Given the description of an element on the screen output the (x, y) to click on. 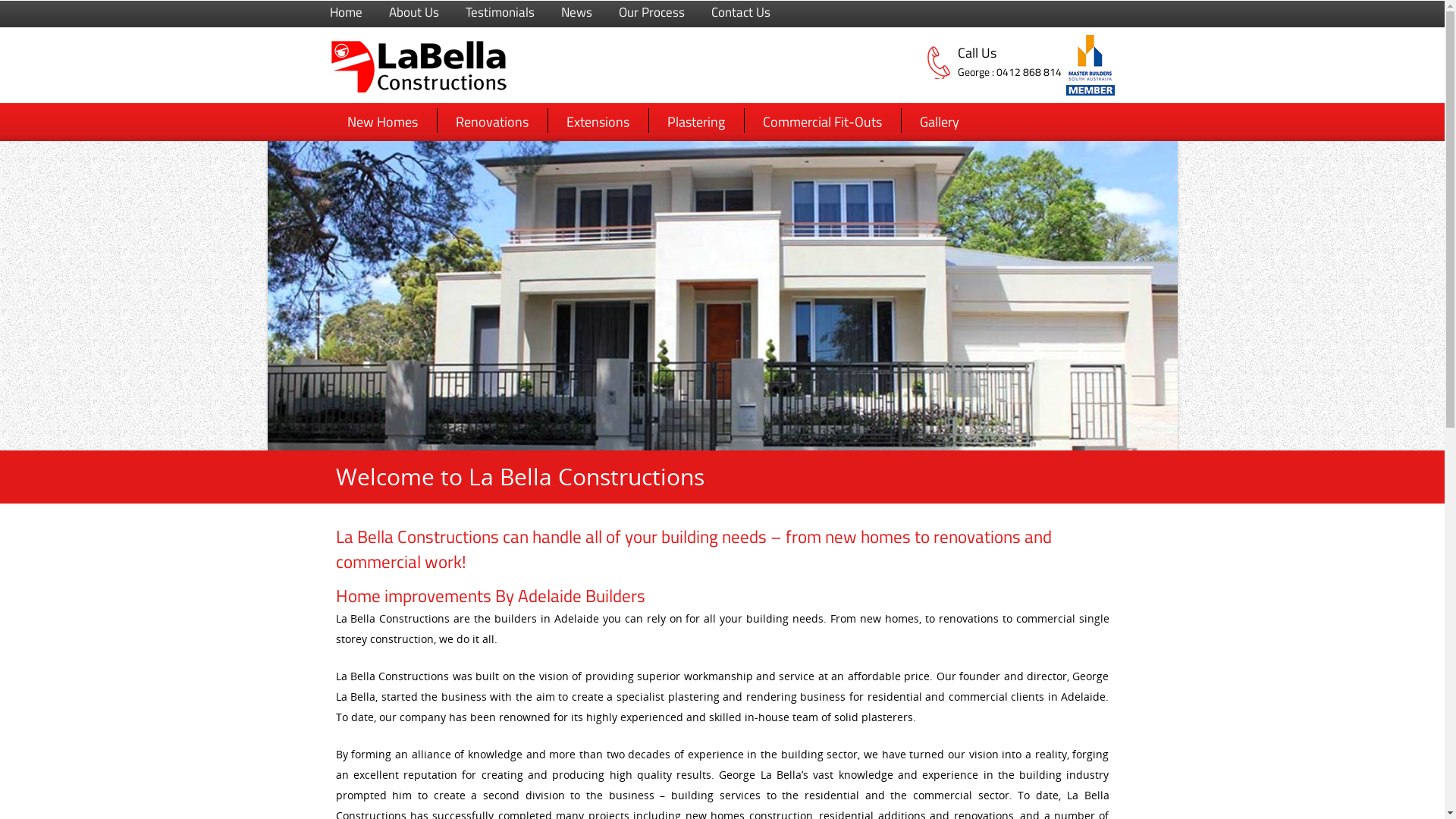
Contact Us Element type: text (740, 11)
Labella Constructions Element type: hover (417, 89)
Gallery Element type: text (939, 121)
George : 0412 868 814 Element type: text (1036, 71)
Skip To Content Element type: text (391, 115)
Testimonials Element type: text (499, 11)
About Us Element type: text (413, 11)
Plastering Element type: text (695, 121)
Extensions Element type: text (597, 121)
slider5 Element type: hover (721, 295)
Renovations Element type: text (491, 121)
Home Element type: text (345, 11)
Commercial Fit-Outs Element type: text (821, 121)
New Homes Element type: text (381, 121)
News Element type: text (576, 11)
Our Process Element type: text (651, 11)
